Given the description of an element on the screen output the (x, y) to click on. 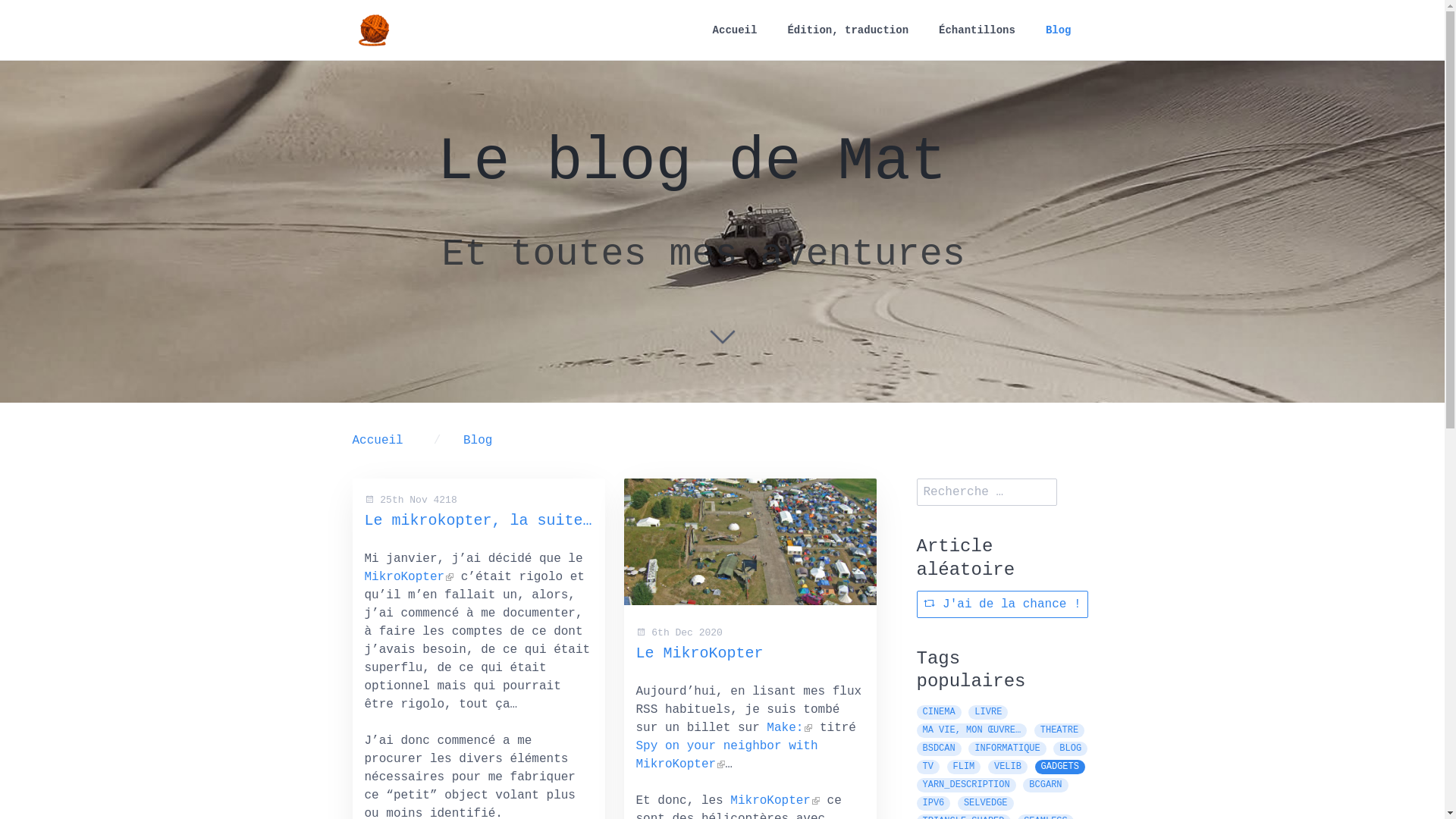
YARN_DESCRIPTION Element type: text (965, 785)
Le MikroKopter Element type: text (698, 653)
LIVRE Element type: text (987, 712)
GADGETS Element type: text (1060, 766)
Blog Element type: text (1058, 29)
Accueil Element type: text (734, 29)
Make: Element type: text (789, 727)
FLIM Element type: text (964, 766)
THEATRE Element type: text (1059, 730)
Blog Element type: text (485, 440)
BCGARN Element type: text (1044, 785)
VELIB Element type: text (1007, 766)
IPV6 Element type: text (933, 803)
TV Element type: text (927, 766)
Accueil Element type: text (384, 440)
Spy on your neighbor with MikroKopter Element type: text (726, 754)
MikroKopter Element type: text (408, 576)
MikroKopter Element type: text (774, 799)
BSDCAN Element type: text (938, 748)
CINEMA Element type: text (938, 712)
BLOG Element type: text (1070, 748)
J'ai de la chance ! Element type: text (1001, 604)
INFORMATIQUE Element type: text (1006, 748)
SELVEDGE Element type: text (985, 803)
